Given the description of an element on the screen output the (x, y) to click on. 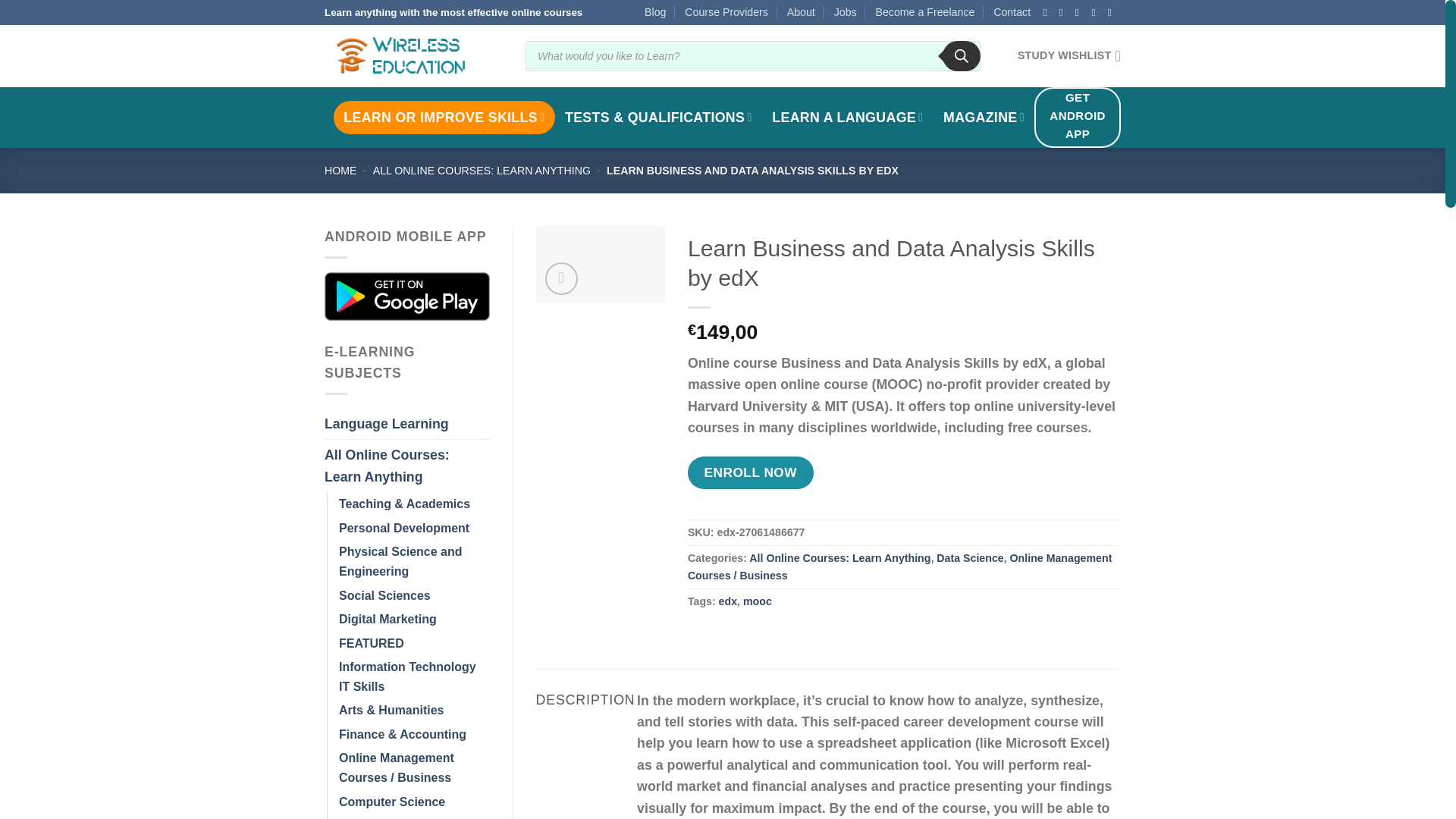
Download our Mobile App Now (406, 295)
About (801, 12)
LEARN OR IMPROVE SKILLS (443, 117)
MOOC (443, 117)
Become a Freelance (924, 12)
Zoom (561, 278)
STUDY WISHLIST (1069, 55)
Learn Business and Data Analysis Skills online by edX (599, 264)
Course Providers (726, 12)
Jobs (845, 12)
Contact (1011, 12)
